Given the description of an element on the screen output the (x, y) to click on. 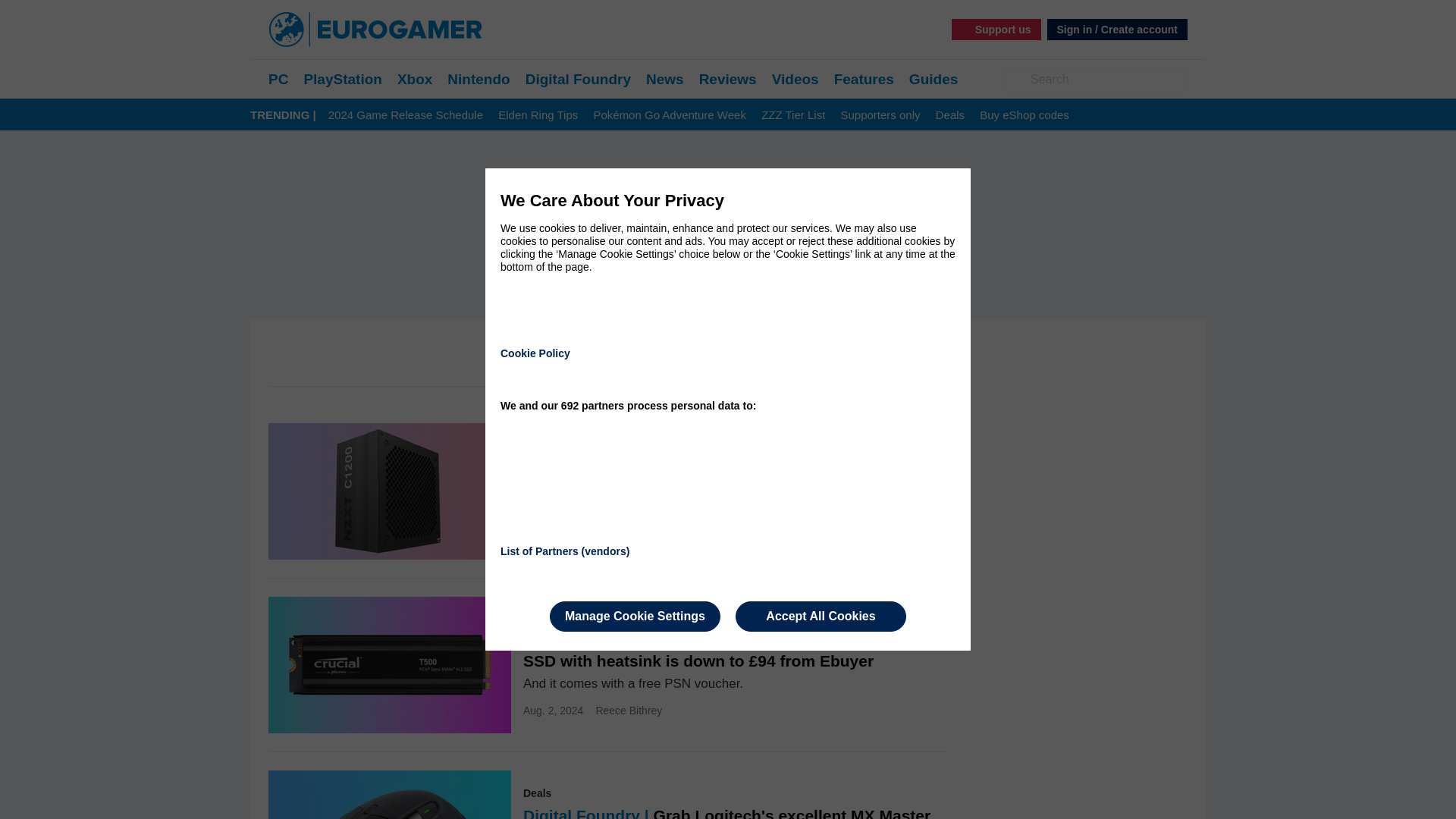
Deals (949, 114)
Features (863, 78)
Elden Ring Tips (537, 114)
Supporters only (880, 114)
Reviews (727, 78)
Guides (933, 78)
PlayStation (341, 78)
Xbox (414, 78)
Xbox (414, 78)
News (665, 78)
News (665, 78)
2024 Game Release Schedule (406, 114)
Deals (949, 114)
Guides (933, 78)
Nintendo (477, 78)
